Given the description of an element on the screen output the (x, y) to click on. 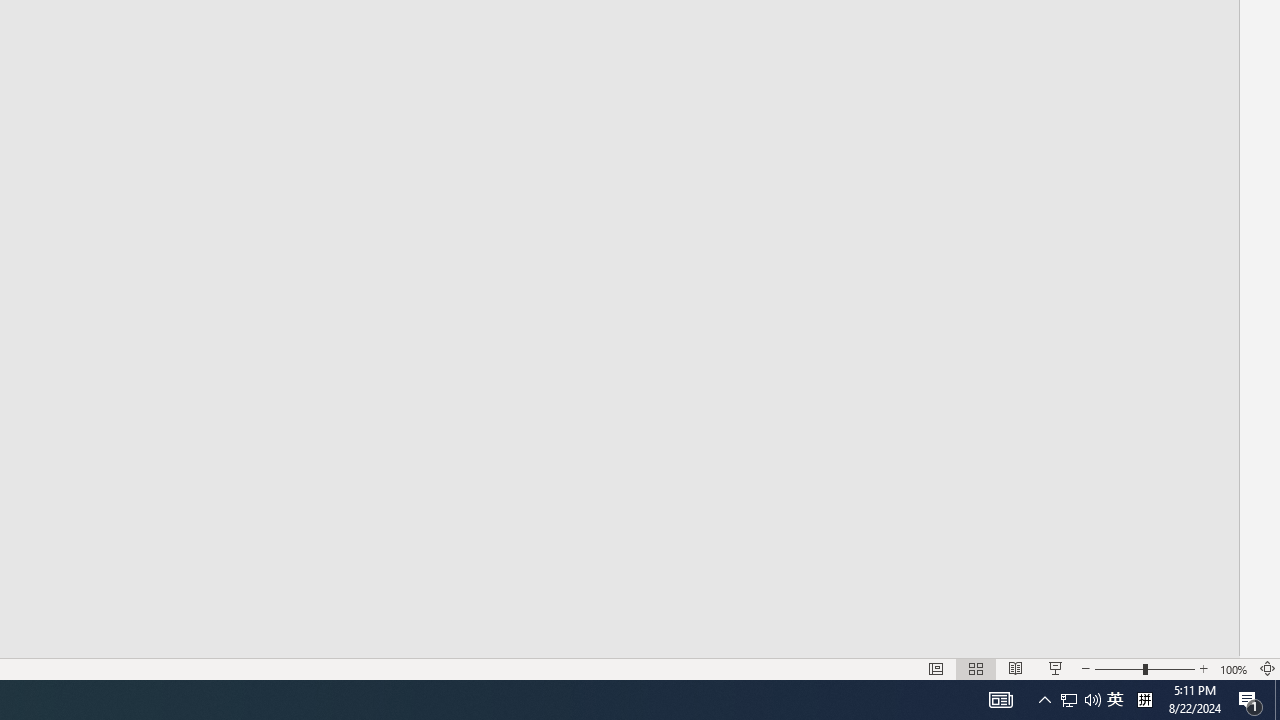
Zoom 100% (1234, 668)
